Given the description of an element on the screen output the (x, y) to click on. 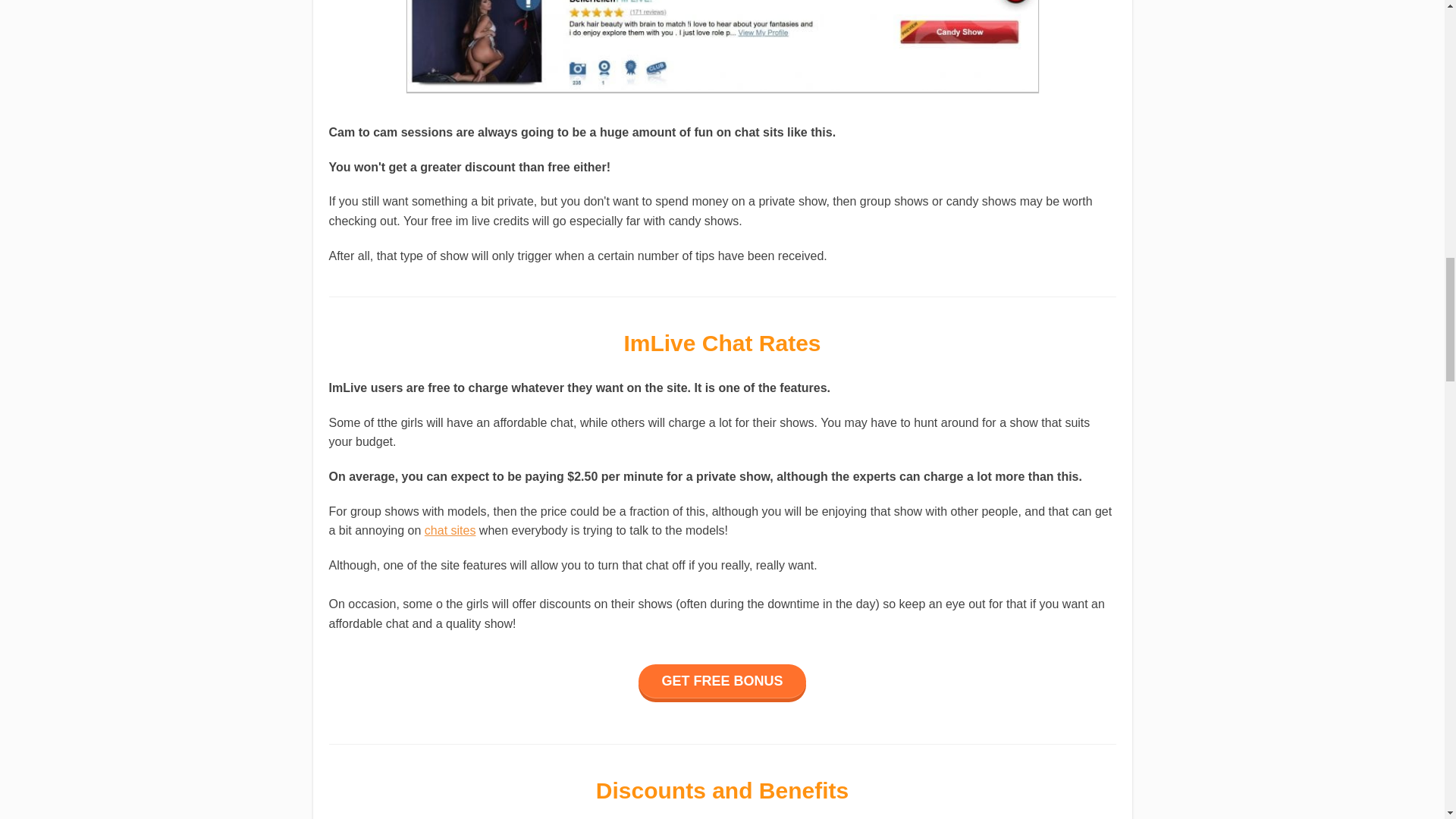
Your ImLive free bonus credits can go far with candy show (721, 46)
chat sites (450, 530)
GET FREE BONUS (722, 681)
